Given the description of an element on the screen output the (x, y) to click on. 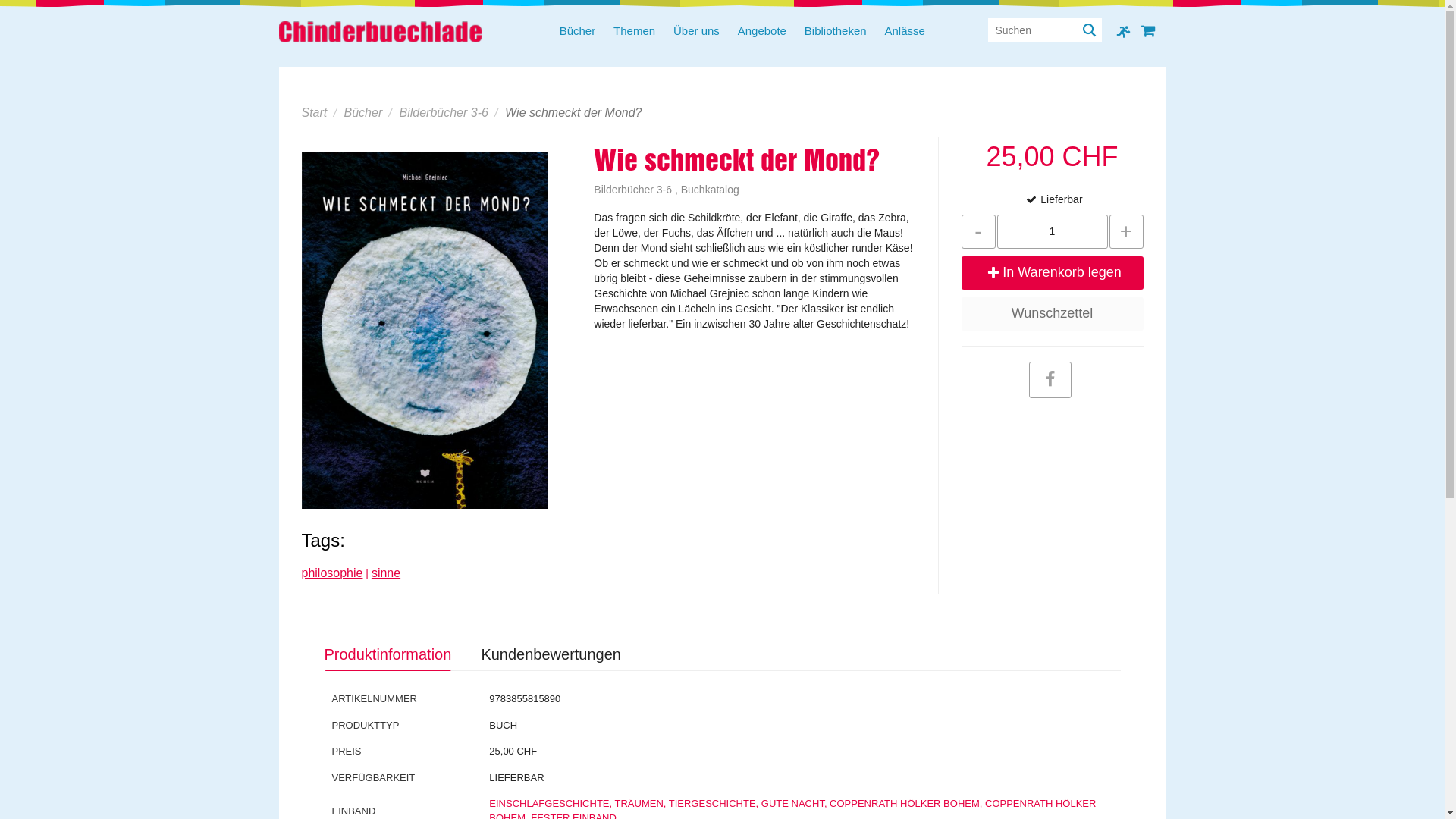
Start Element type: text (314, 112)
Produktinformation Element type: text (387, 655)
Buchkatalog Element type: text (709, 189)
philosophie Element type: text (332, 572)
sinne Element type: text (385, 572)
Wunschzettel Element type: text (1052, 313)
Suchen Element type: text (1088, 30)
Bibliotheken Element type: text (835, 31)
Themen Element type: text (633, 31)
In Warenkorb legen Element type: text (1052, 272)
Angebote Element type: text (761, 31)
X Element type: text (1000, 30)
Kundenbewertungen Element type: text (550, 654)
